Given the description of an element on the screen output the (x, y) to click on. 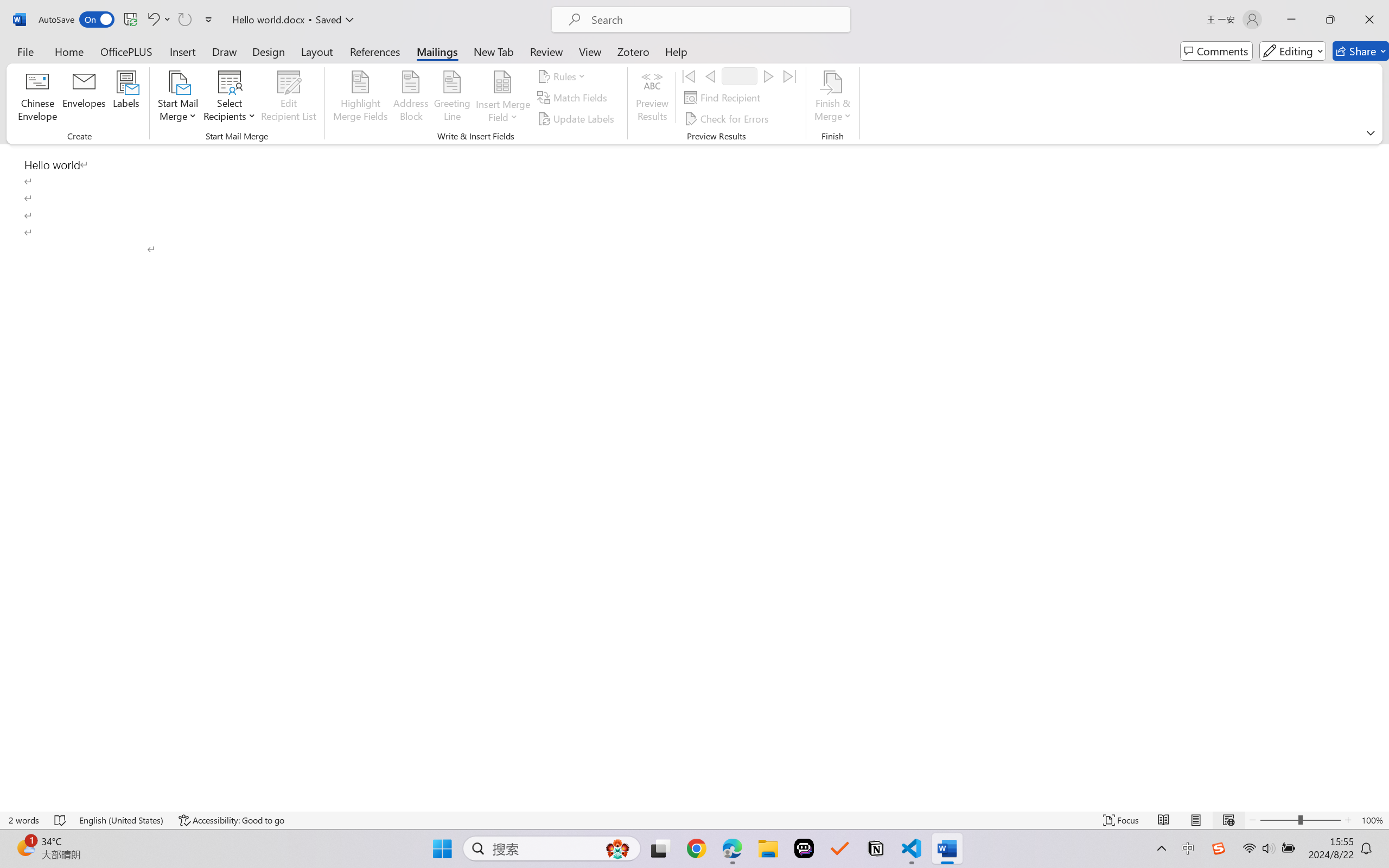
Layout (316, 51)
Undo Click and Type Formatting (158, 19)
Design (268, 51)
Mailings (437, 51)
Spelling and Grammar Check No Errors (60, 819)
Close (1369, 19)
Find Recipient... (723, 97)
Highlight Merge Fields (360, 97)
Focus  (1121, 819)
Restore Down (1330, 19)
Envelopes... (84, 97)
Zoom 100% (1372, 819)
Zoom In (1348, 819)
